Given the description of an element on the screen output the (x, y) to click on. 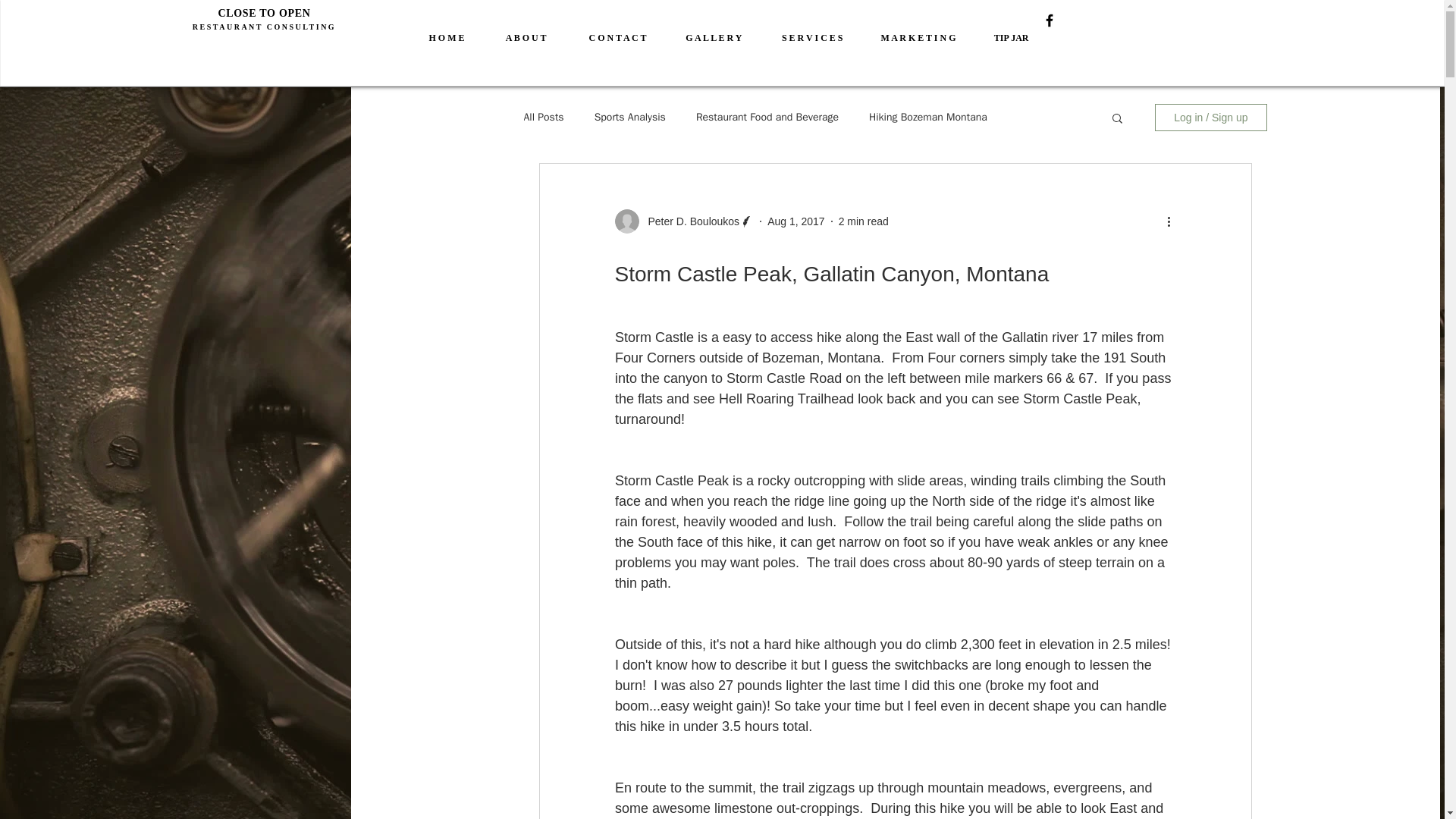
All Posts (542, 117)
2 min read (863, 221)
G A L L E R Y (701, 37)
Hiking Bozeman Montana (928, 117)
M A R K E T I N G (906, 37)
C O N T A C T (603, 37)
TIP JAR (998, 37)
Restaurant Food and Beverage (766, 117)
Aug 1, 2017 (796, 221)
Sports Analysis (629, 117)
